Given the description of an element on the screen output the (x, y) to click on. 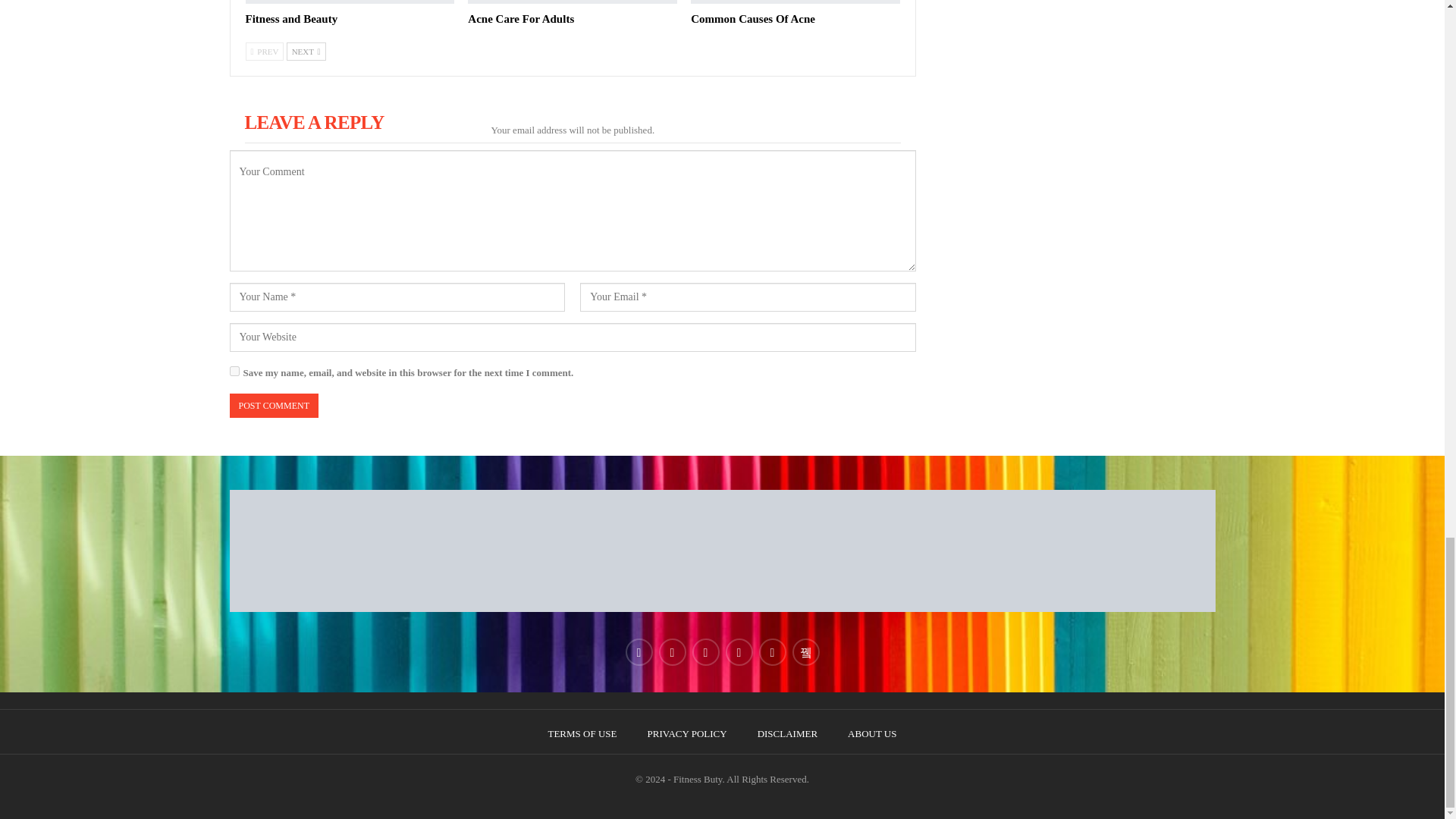
Previous (264, 51)
Acne Care For Adults (520, 19)
Common Causes Of Acne (752, 19)
Fitness and Beauty (291, 19)
Common Causes Of Acne (794, 2)
Acne Care For Adults (520, 19)
Post Comment (272, 405)
Next (306, 51)
Fitness and Beauty (350, 2)
Acne Care For Adults (572, 2)
